Given the description of an element on the screen output the (x, y) to click on. 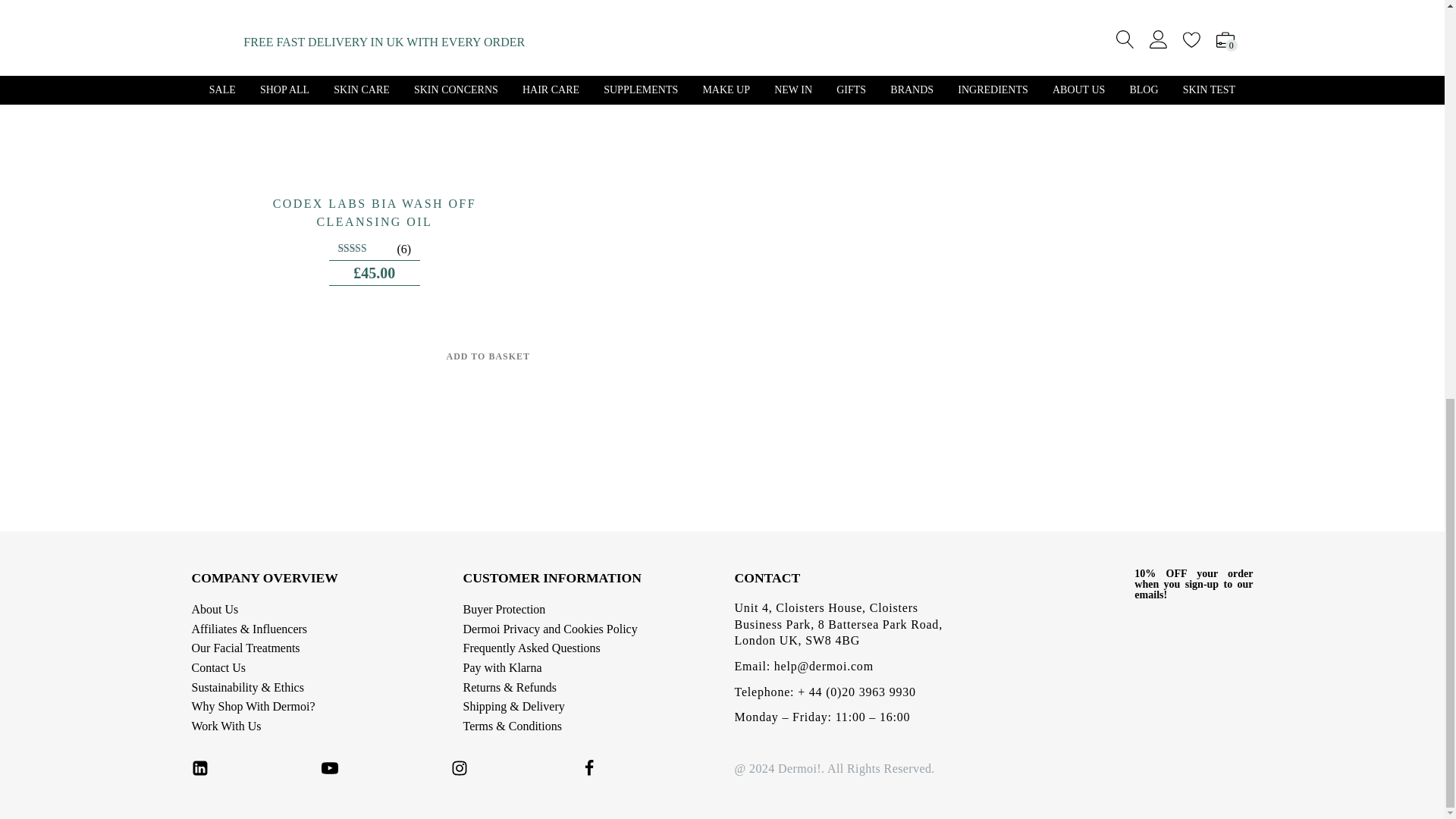
Cosmeceutical Skincare - dermoi (1061, 584)
